Given the description of an element on the screen output the (x, y) to click on. 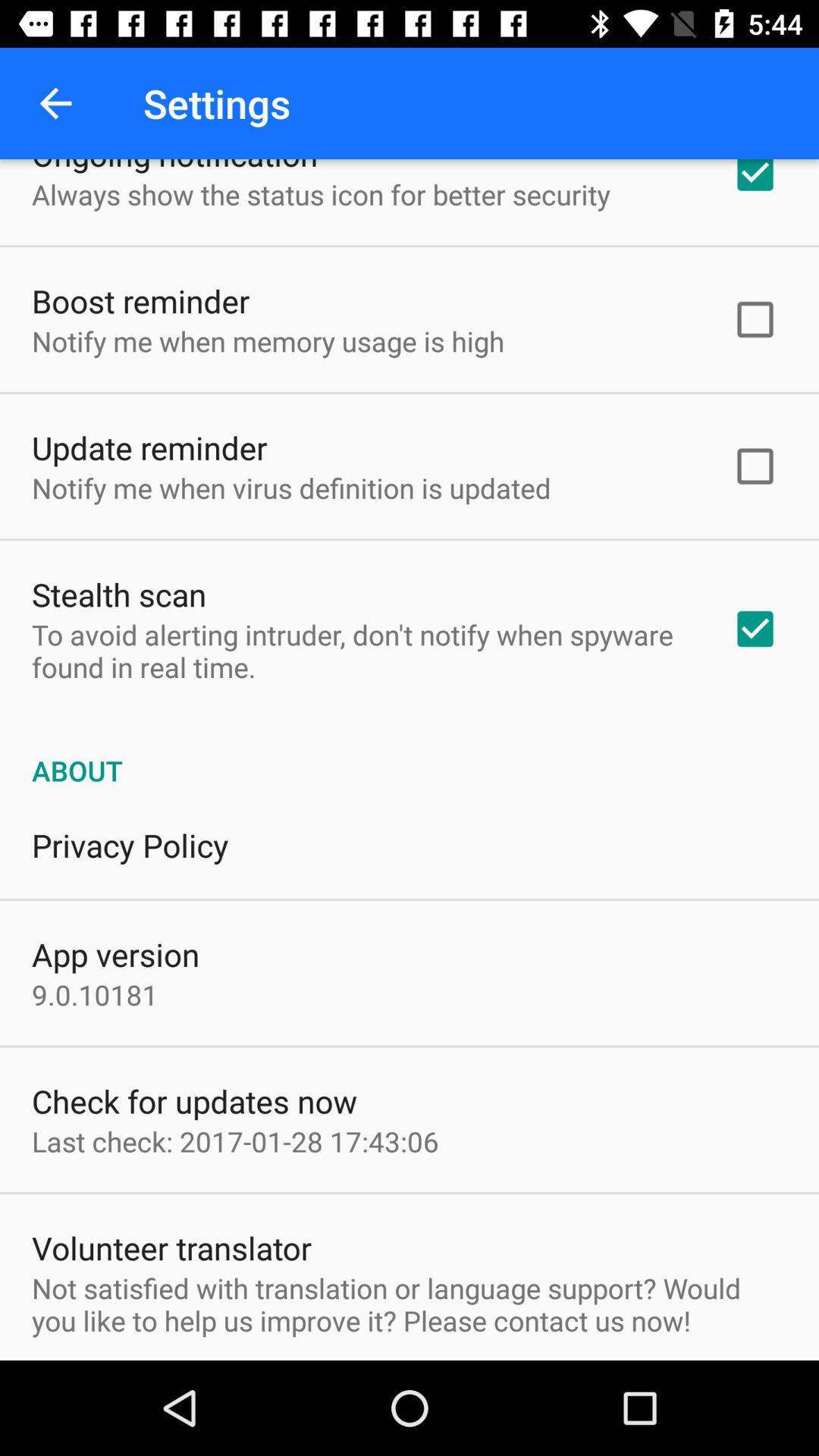
launch the icon above volunteer translator icon (235, 1141)
